Given the description of an element on the screen output the (x, y) to click on. 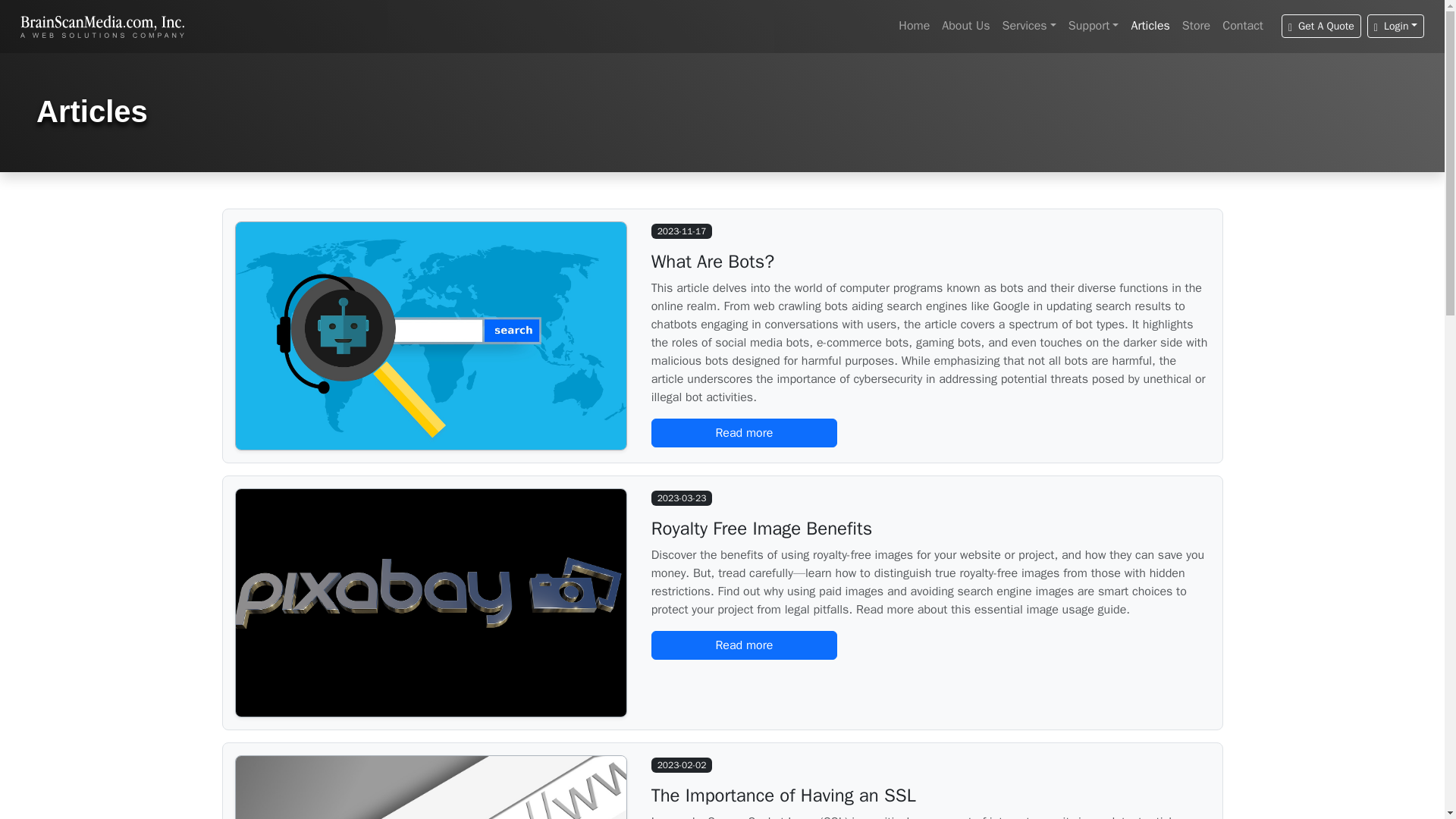
Articles (1149, 25)
Support (1093, 25)
Login (1395, 25)
Contact (1242, 25)
Store (1195, 25)
Services (1028, 25)
About Us (965, 25)
Get A Quote (1321, 25)
Home (914, 25)
